Given the description of an element on the screen output the (x, y) to click on. 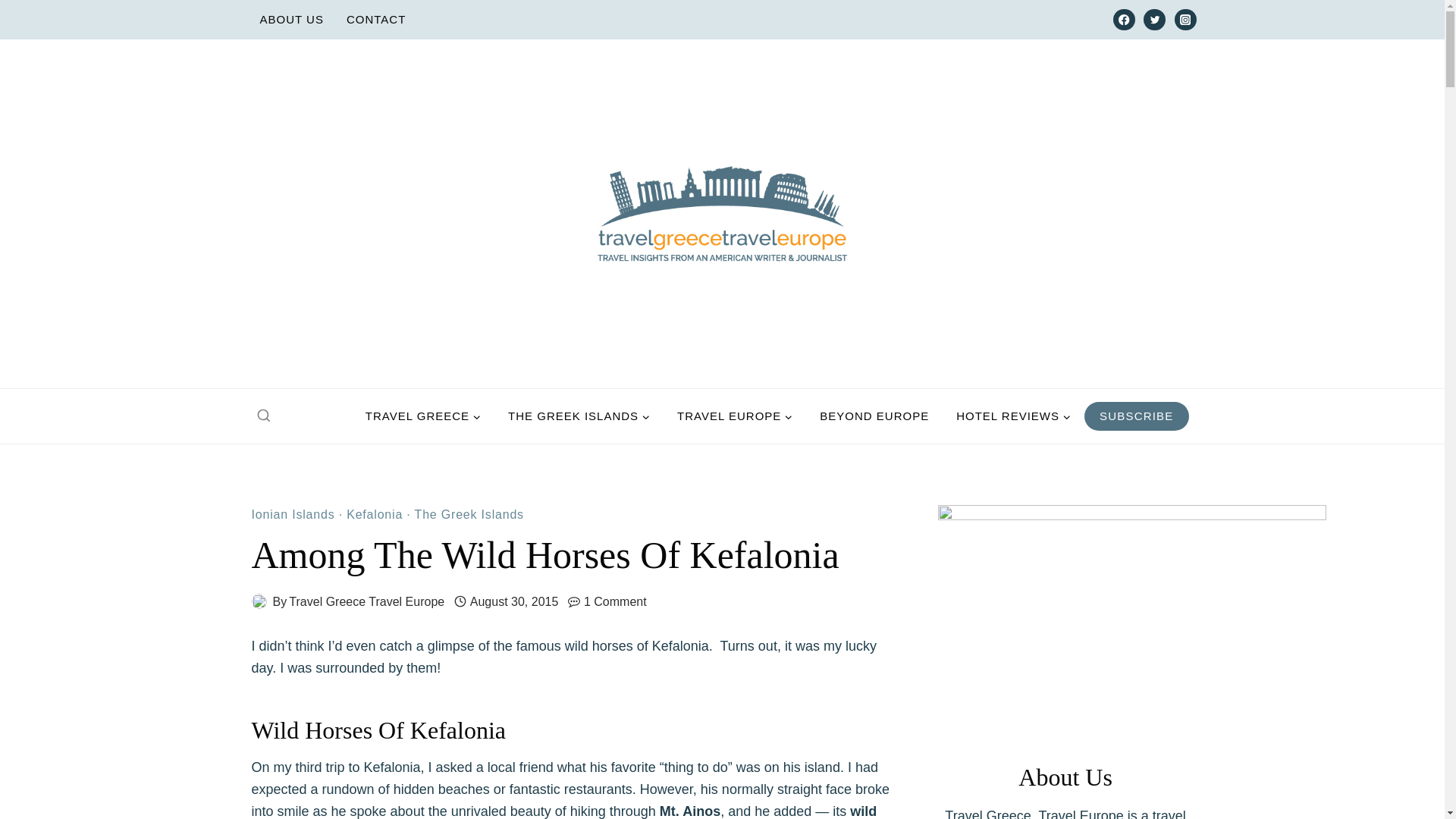
1 Comment (614, 601)
CONTACT (375, 20)
THE GREEK ISLANDS (579, 416)
ABOUT US (291, 20)
TRAVEL GREECE (423, 416)
